Given the description of an element on the screen output the (x, y) to click on. 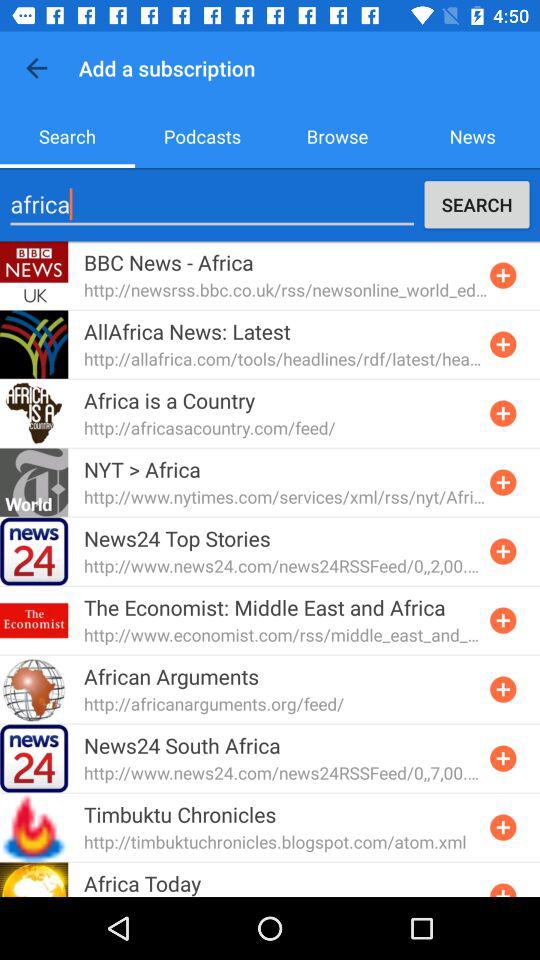
add podcast (503, 344)
